Given the description of an element on the screen output the (x, y) to click on. 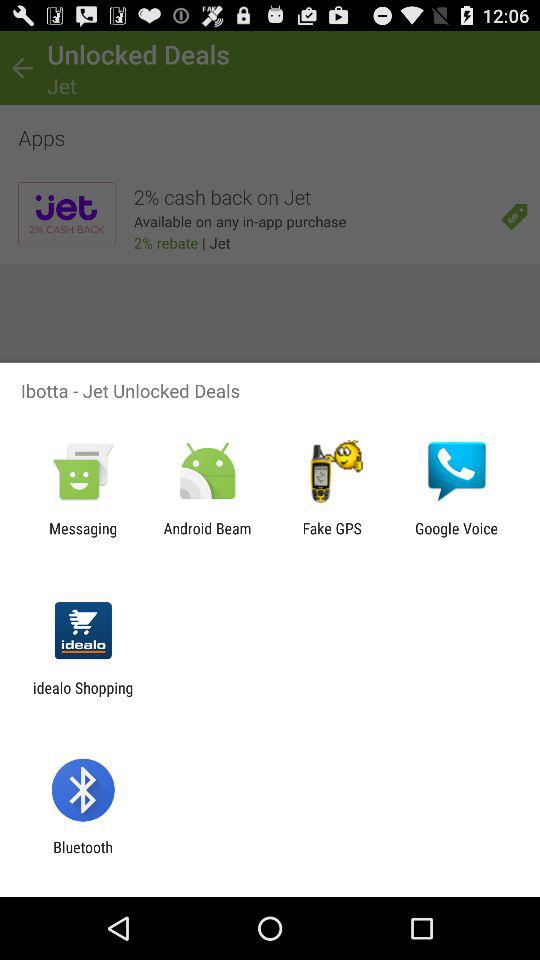
open item next to android beam item (331, 537)
